Given the description of an element on the screen output the (x, y) to click on. 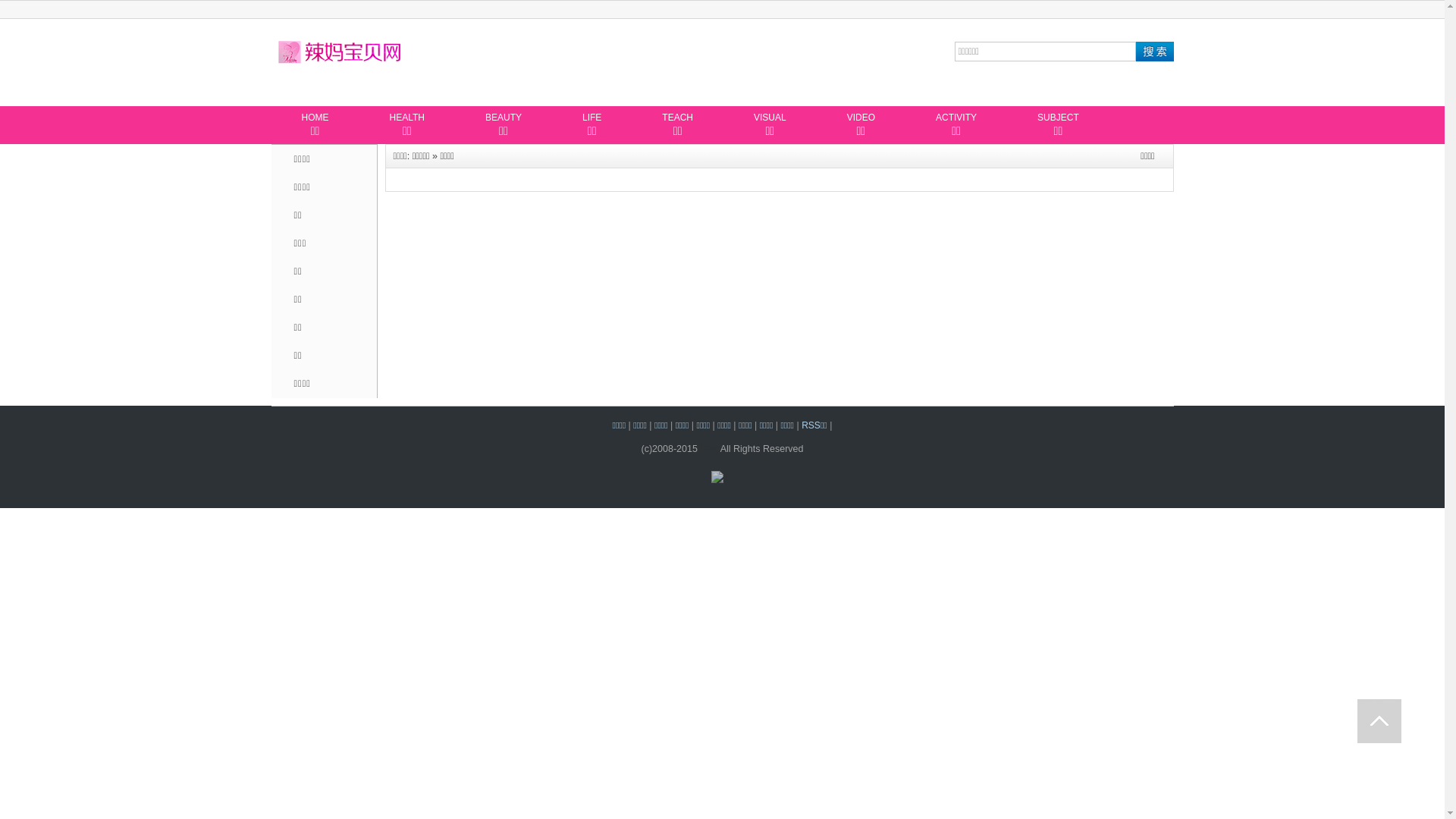
  Element type: text (1379, 721)
